Given the description of an element on the screen output the (x, y) to click on. 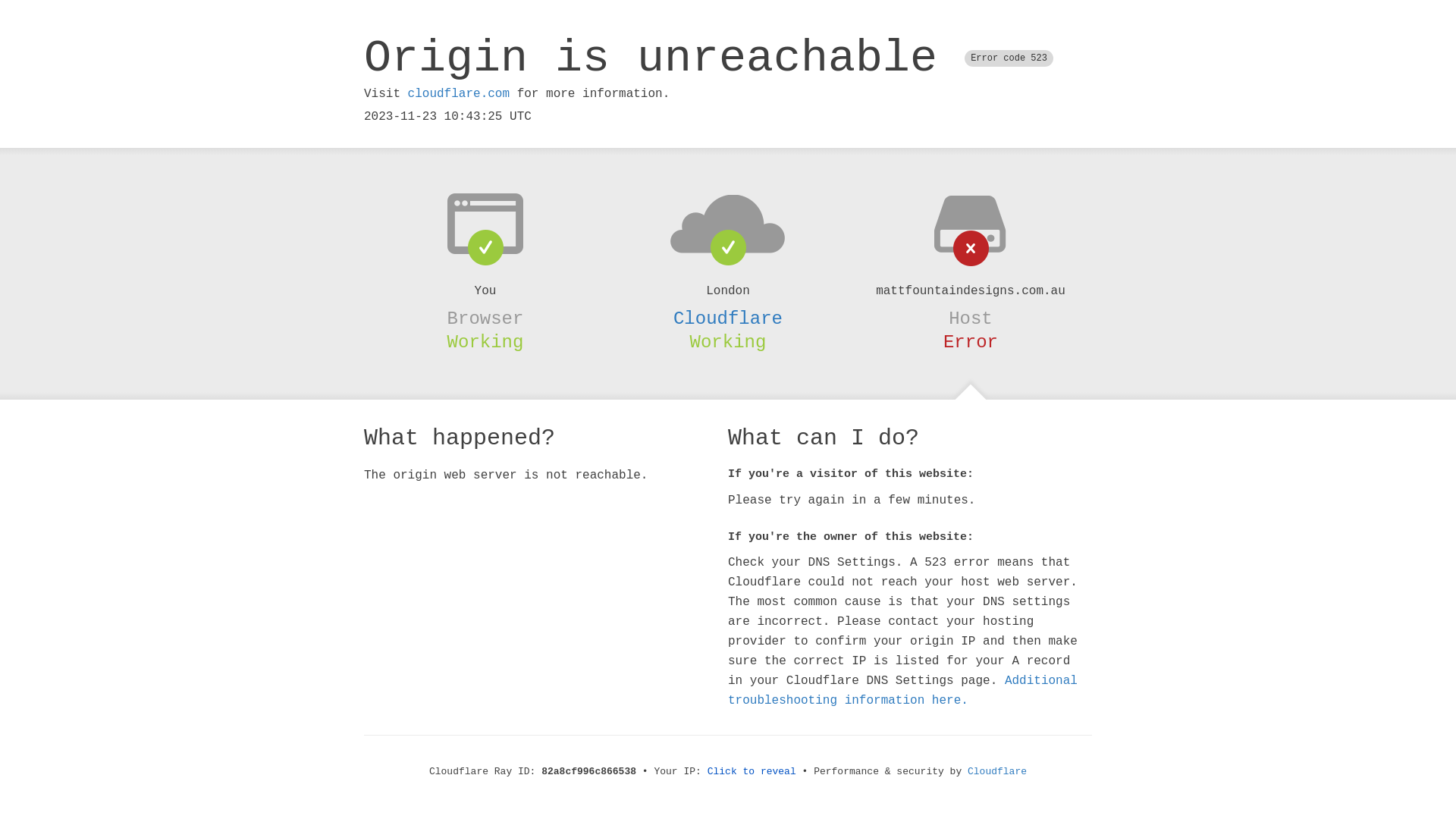
cloudflare.com Element type: text (458, 93)
Additional troubleshooting information here. Element type: text (902, 690)
Cloudflare Element type: text (996, 771)
Cloudflare Element type: text (727, 318)
Click to reveal Element type: text (751, 771)
